Given the description of an element on the screen output the (x, y) to click on. 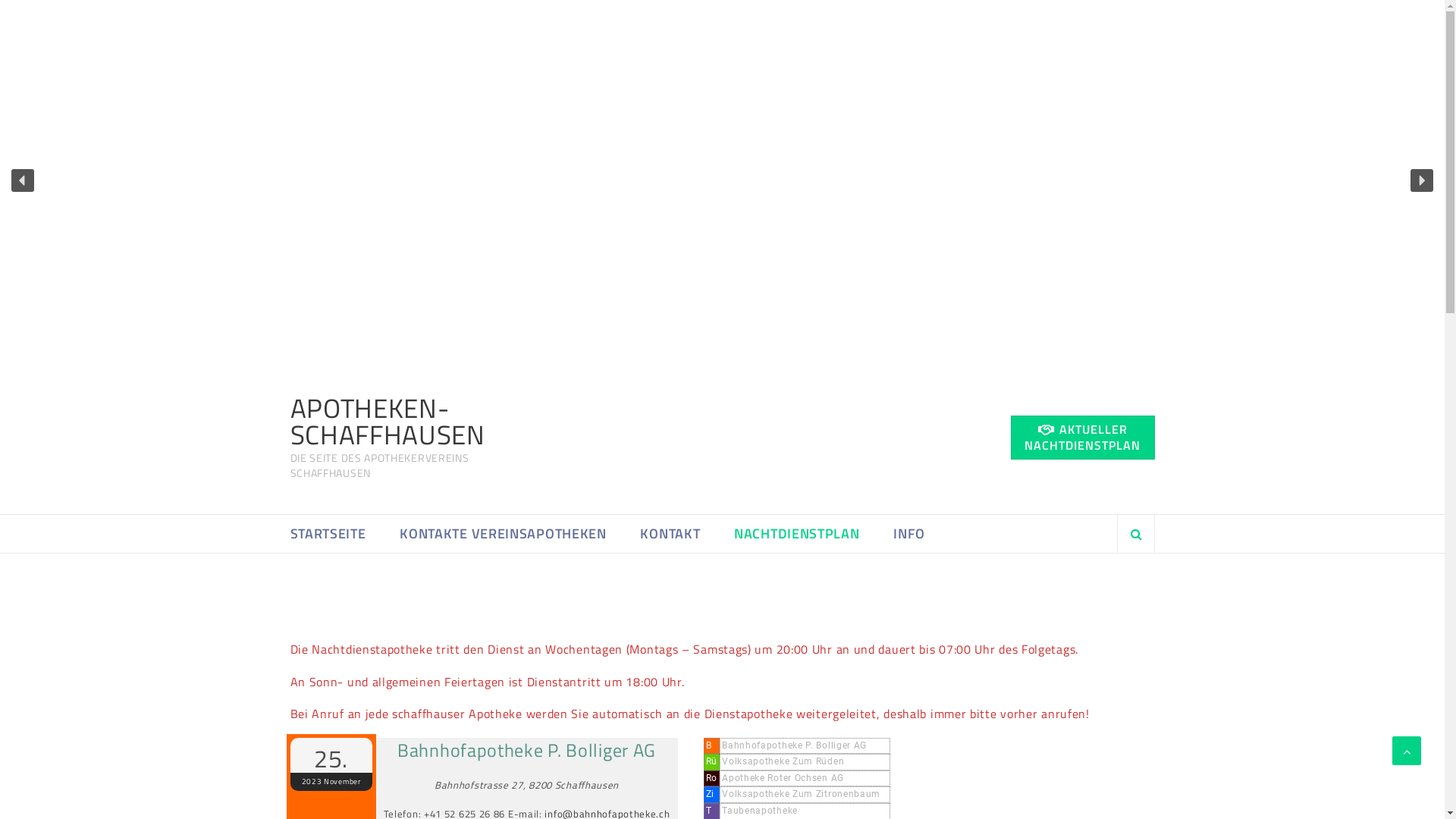
KONTAKT Element type: text (669, 533)
INFO Element type: text (909, 533)
APOTHEKEN-SCHAFFHAUSEN Element type: text (386, 421)
NACHTDIENSTPLAN Element type: text (796, 533)
Hledat Element type: text (1116, 580)
STARTSEITE Element type: text (327, 533)
AKTUELLER NACHTDIENSTPLAN Element type: text (1082, 437)
Go to Top Element type: hover (1406, 750)
Bahnhofapotheke P. Bolliger AG Element type: text (526, 750)
KONTAKTE VEREINSAPOTHEKEN Element type: text (502, 533)
